Given the description of an element on the screen output the (x, y) to click on. 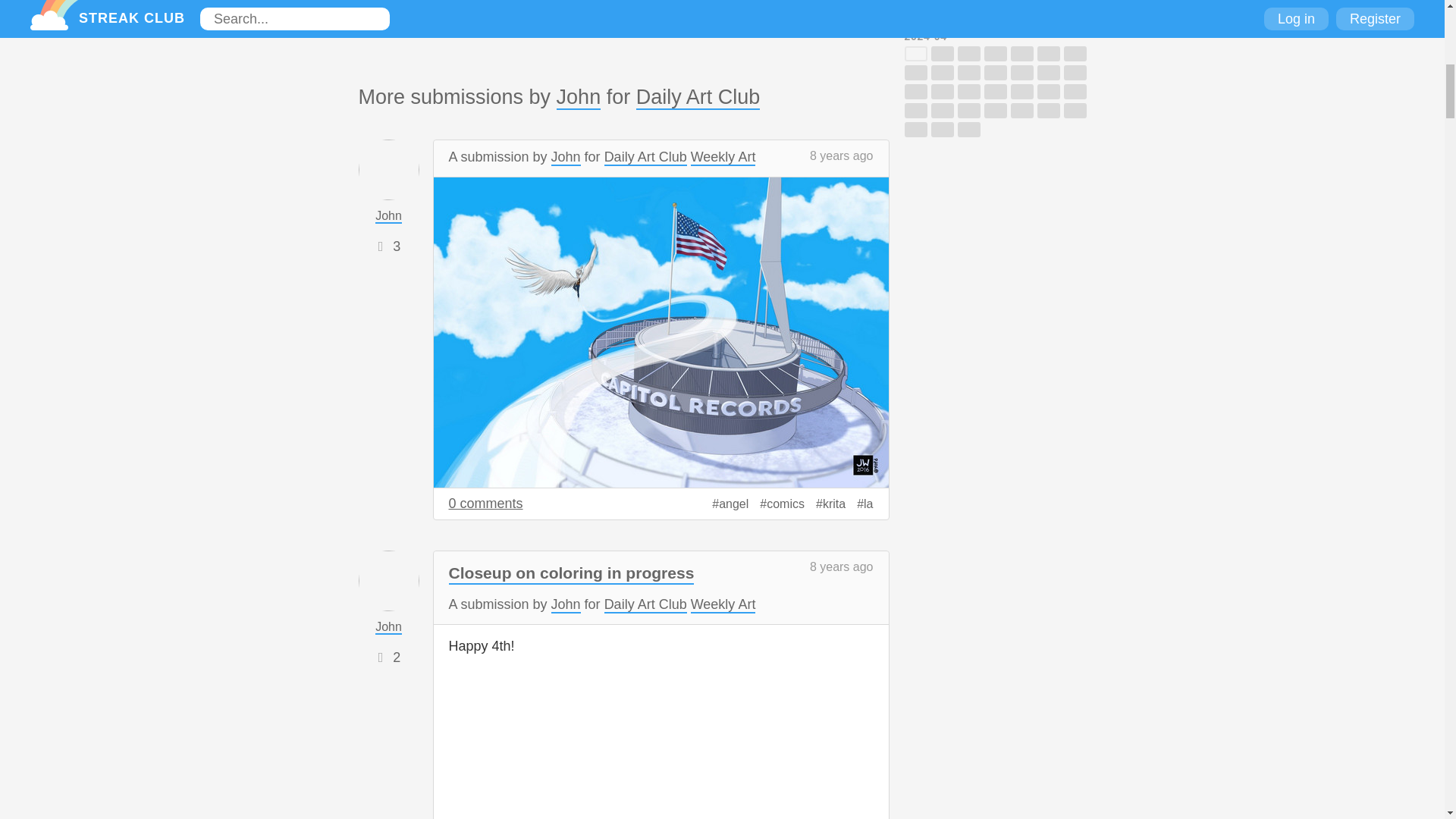
Daily Art Club (698, 97)
Weekly Art (722, 157)
0 comments (485, 503)
John (565, 157)
3 (396, 246)
Daily Art Club (645, 157)
8 years ago (841, 155)
John (578, 97)
